Given the description of an element on the screen output the (x, y) to click on. 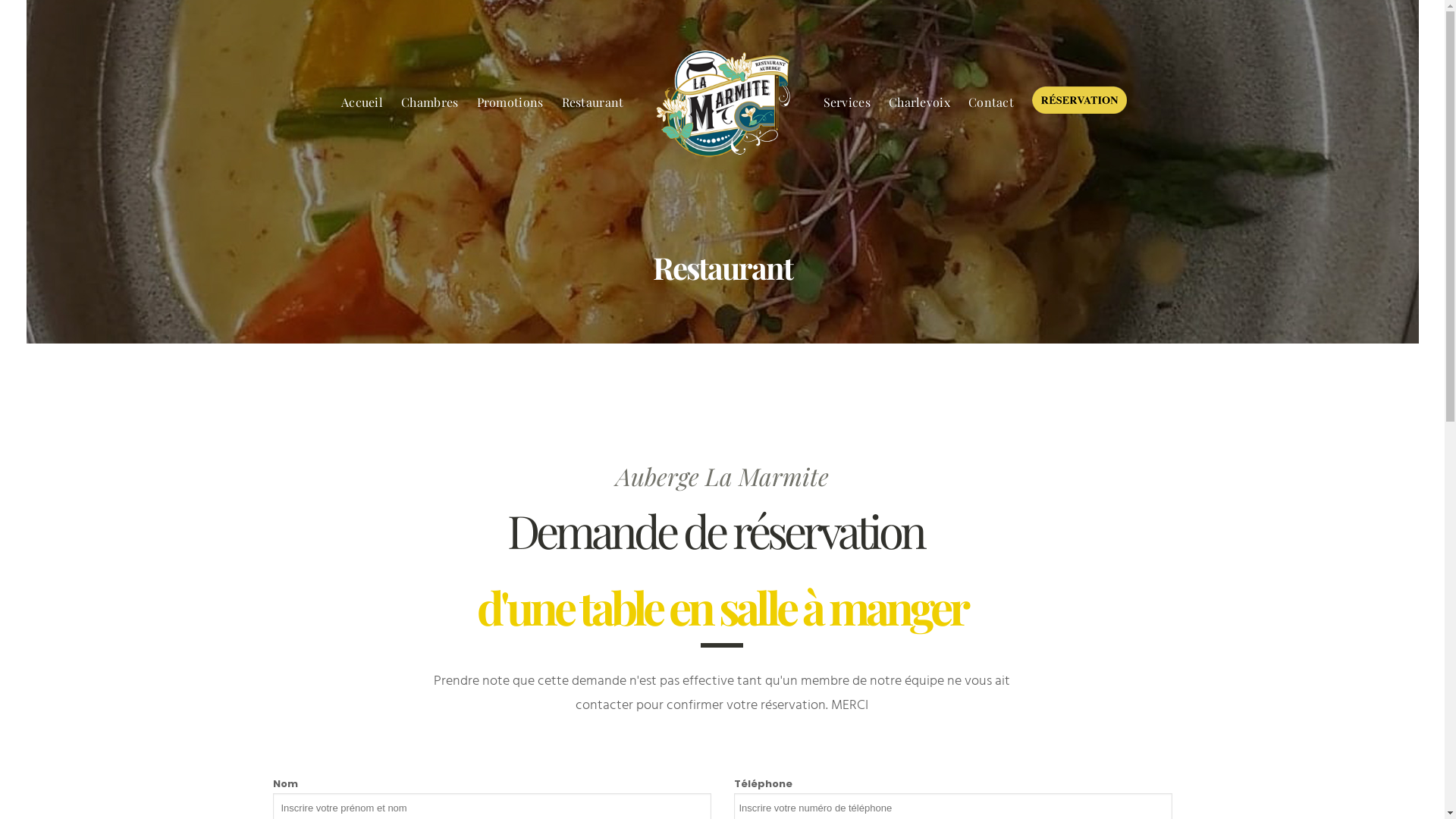
Accueil Element type: text (361, 101)
Charlevoix Element type: text (919, 101)
Restaurant Element type: text (592, 101)
Services Element type: text (846, 101)
Contact Element type: text (990, 101)
Chambres Element type: text (429, 101)
Promotions Element type: text (509, 101)
